Given the description of an element on the screen output the (x, y) to click on. 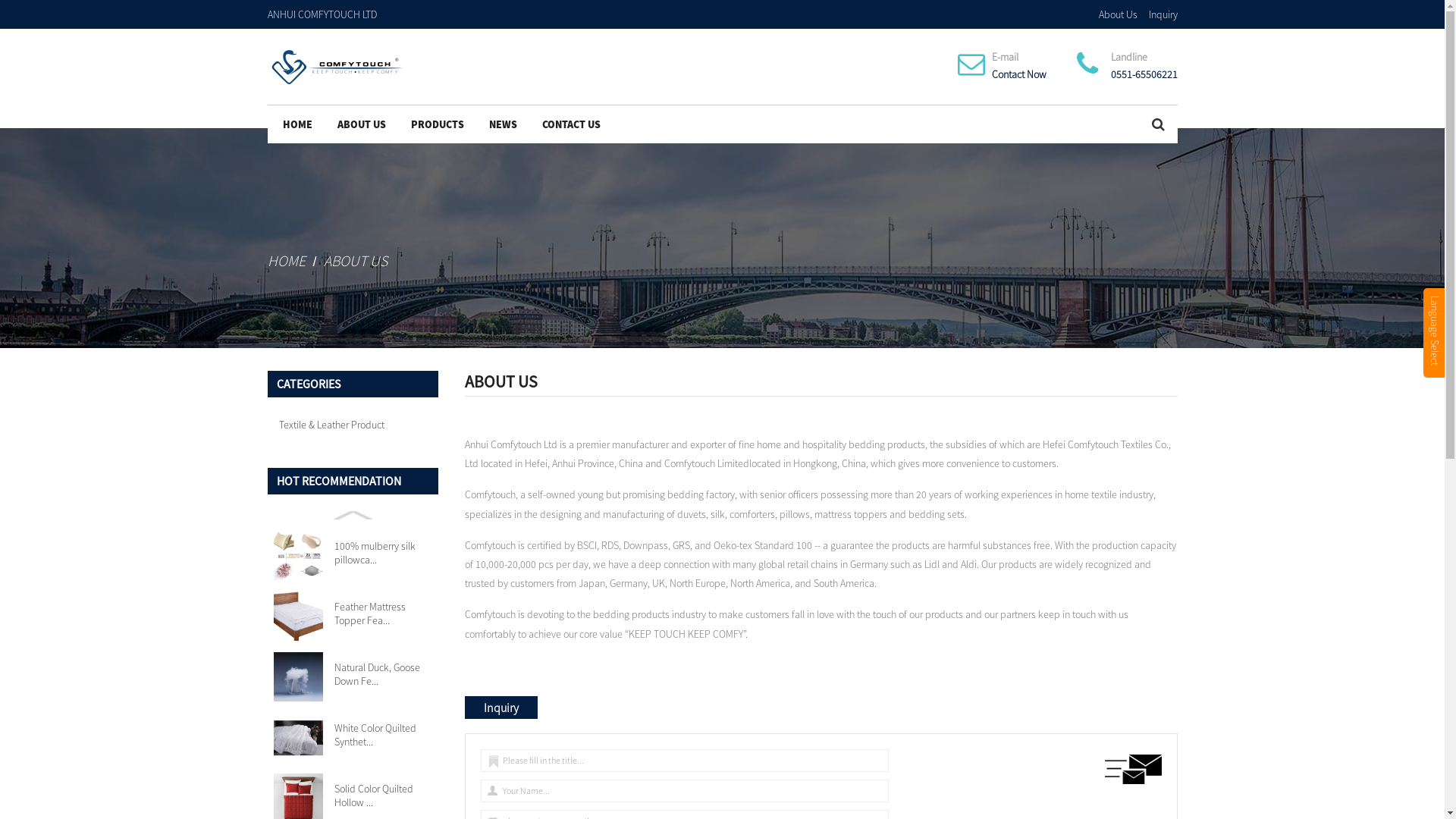
HOME Element type: text (297, 124)
Feather Mattress Topper Fea... Element type: text (382, 613)
HOME Element type: text (285, 260)
PRODUCTS Element type: text (436, 124)
Language Select Element type: text (1433, 332)
Solid Color Quilted Hollow ... Element type: text (382, 795)
Inquiry Element type: text (1162, 14)
Natural Duck, Goose Down Fe... Element type: text (382, 673)
White Color Quilted Synthet... Element type: text (382, 734)
ABOUT US Element type: text (361, 124)
Textile & Leather Product Element type: text (345, 424)
100% mulberry silk pillowca... Element type: text (382, 552)
NEWS Element type: text (502, 124)
About Us Element type: text (1117, 14)
CONTACT US Element type: text (570, 124)
